Given the description of an element on the screen output the (x, y) to click on. 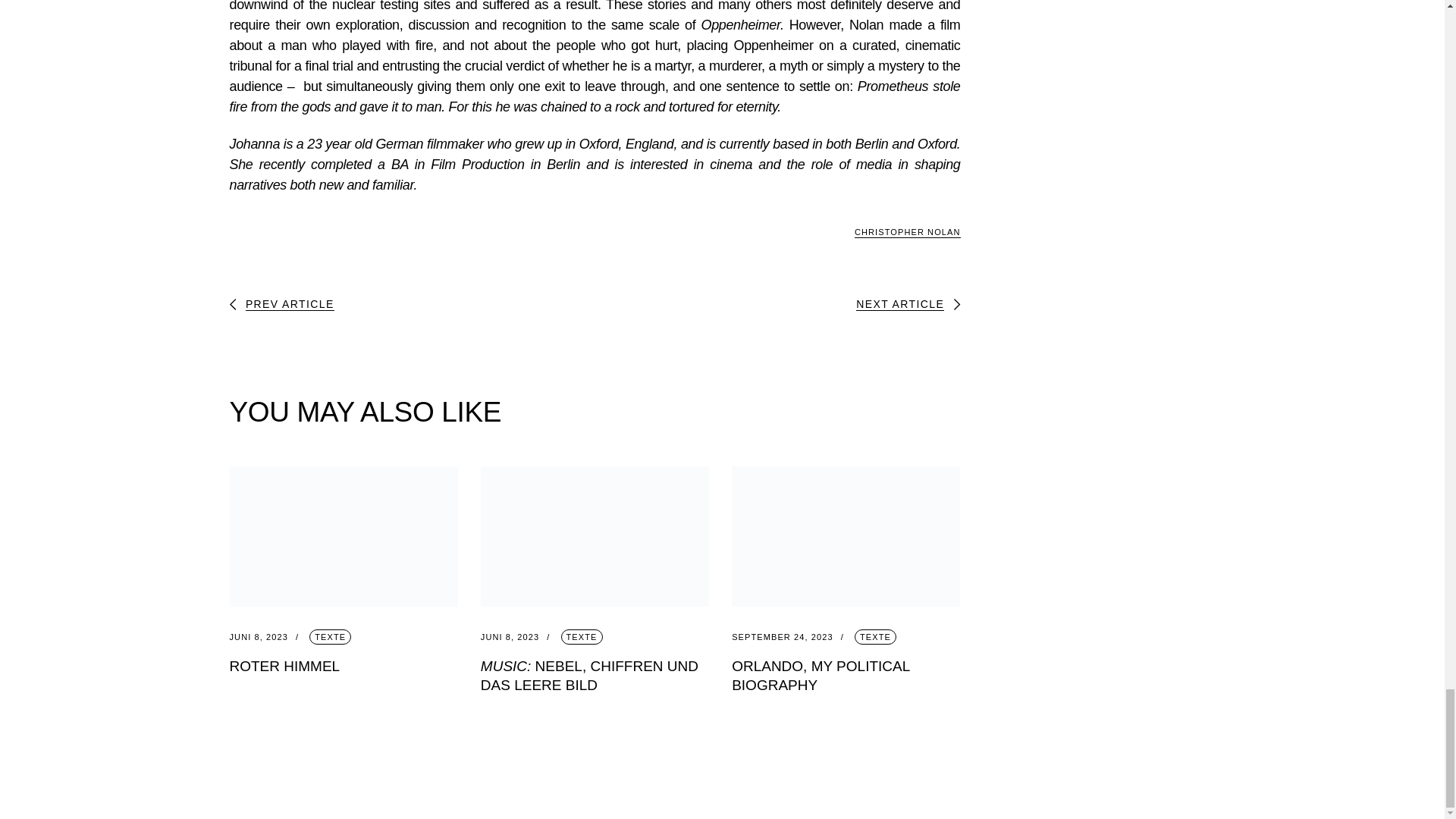
JUNI 8, 2023 (518, 637)
TEXTE (329, 636)
CHRISTOPHER NOLAN (907, 231)
NEXT ARTICLE (907, 304)
TEXTE (581, 636)
ROTER HIMMEL (283, 666)
PREV ARTICLE (280, 304)
MUSIC: NEBEL, CHIFFREN UND DAS LEERE BILD (589, 675)
JUNI 8, 2023 (266, 637)
